Given the description of an element on the screen output the (x, y) to click on. 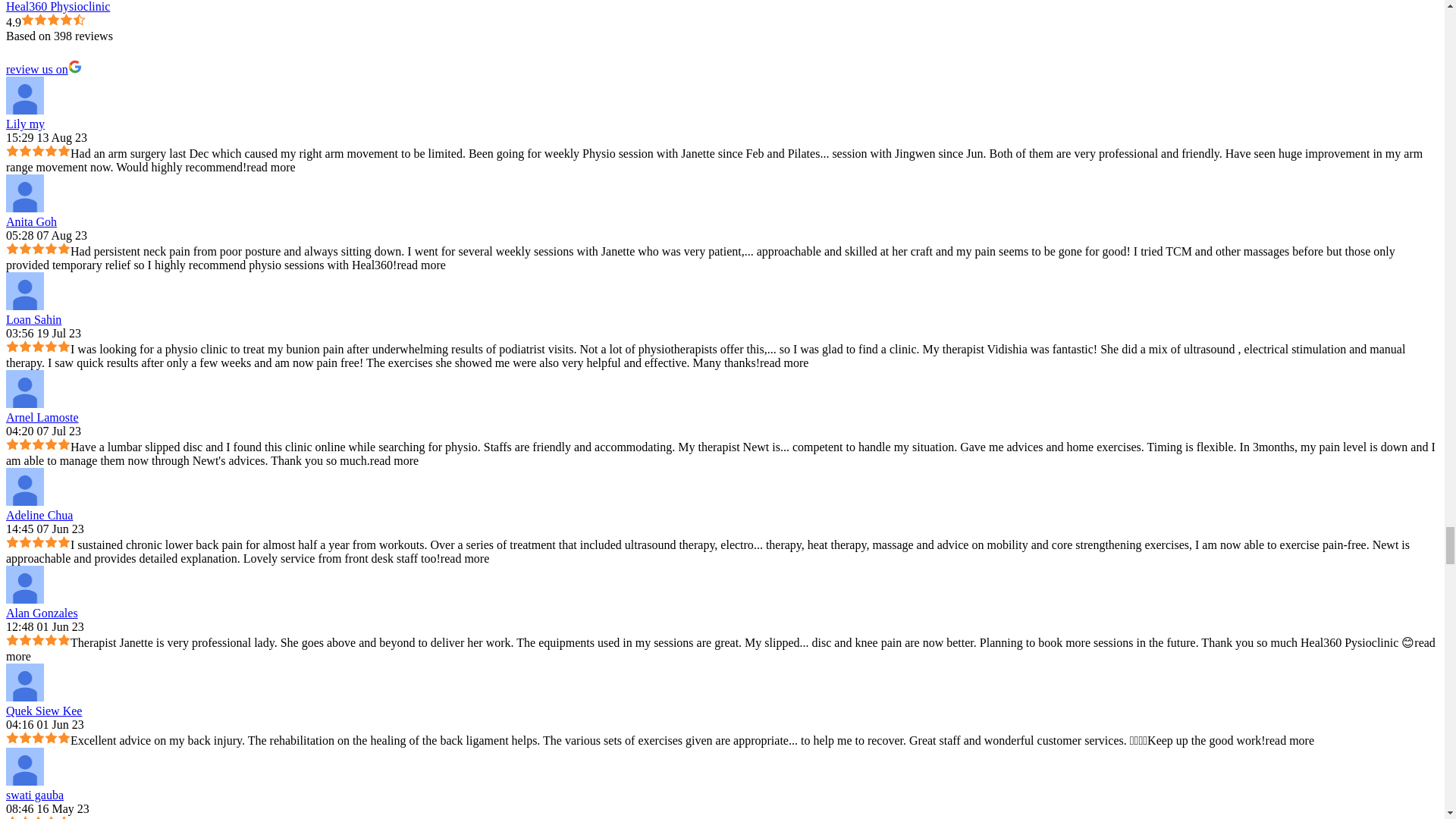
powered by Google (60, 49)
Adeline Chua (24, 486)
Alan Gonzales (24, 584)
Loan Sahin (24, 290)
Lily my (24, 95)
swati gauba (24, 766)
Arnel Lamoste (24, 388)
Anita Goh (24, 193)
Quek Siew Kee (24, 682)
